Given the description of an element on the screen output the (x, y) to click on. 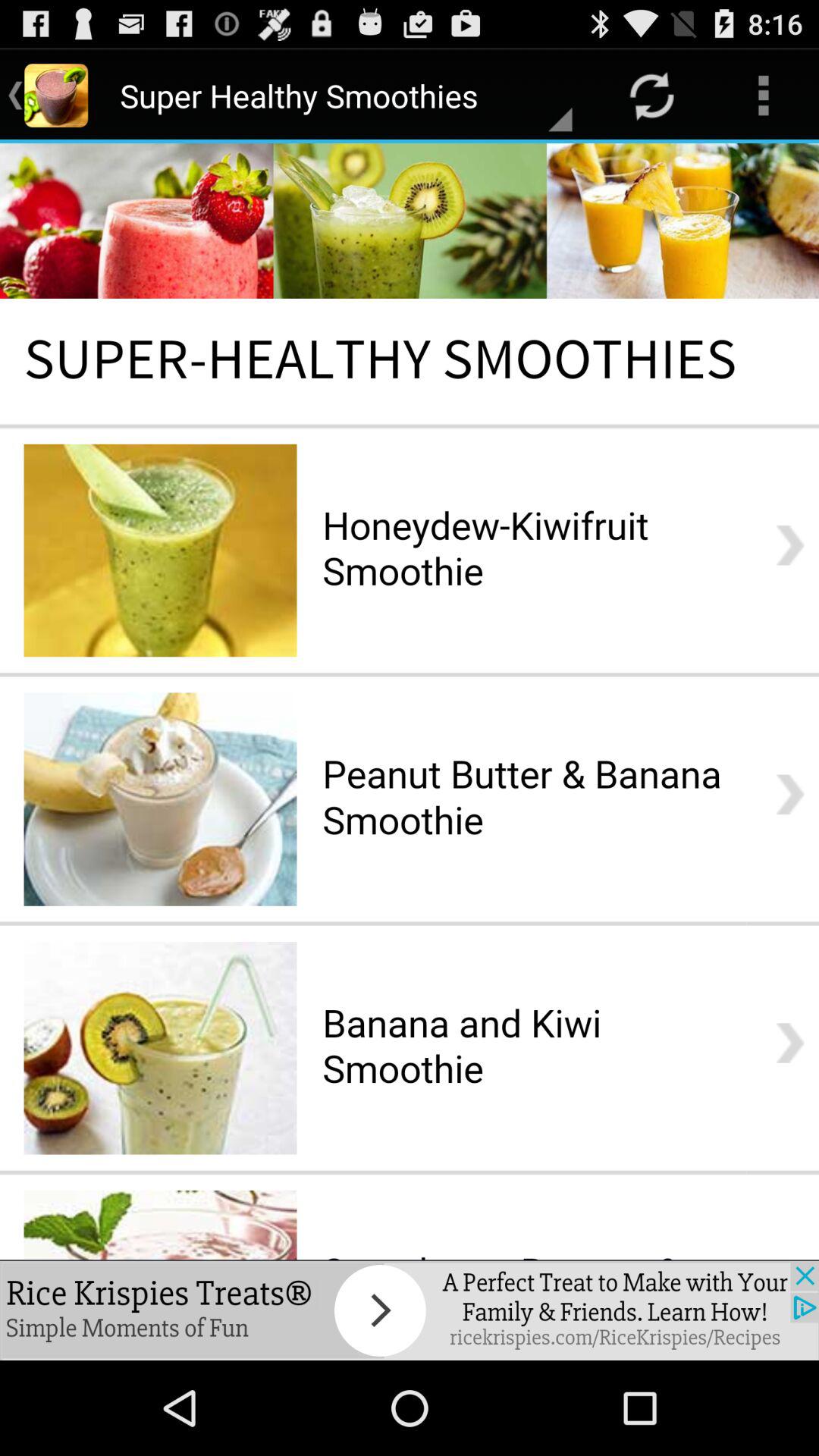
main content area (409, 701)
